Given the description of an element on the screen output the (x, y) to click on. 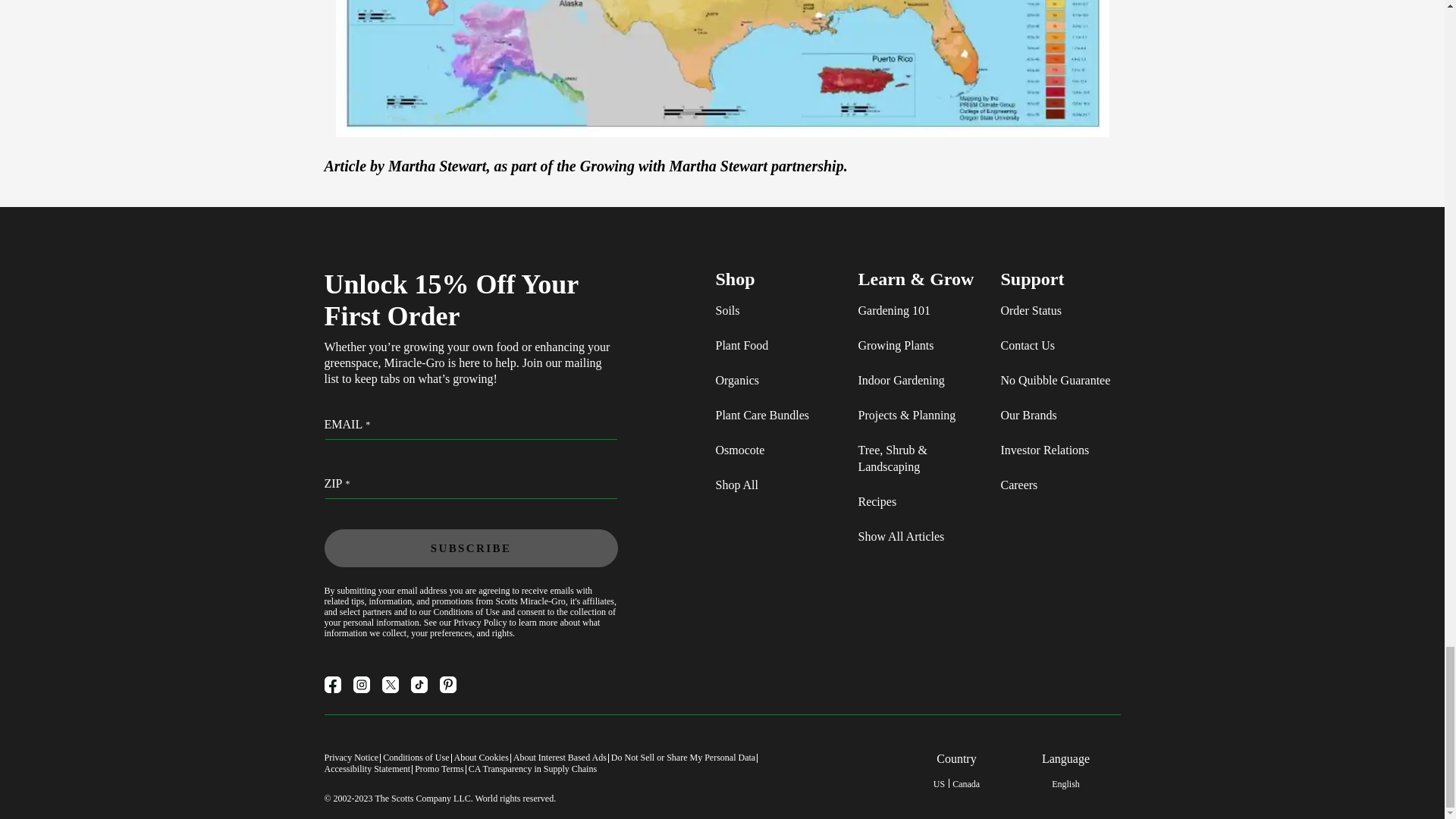
Facebook (332, 684)
Instagram (361, 684)
X (389, 684)
Pinterest (448, 684)
TikTok (419, 684)
